Given the description of an element on the screen output the (x, y) to click on. 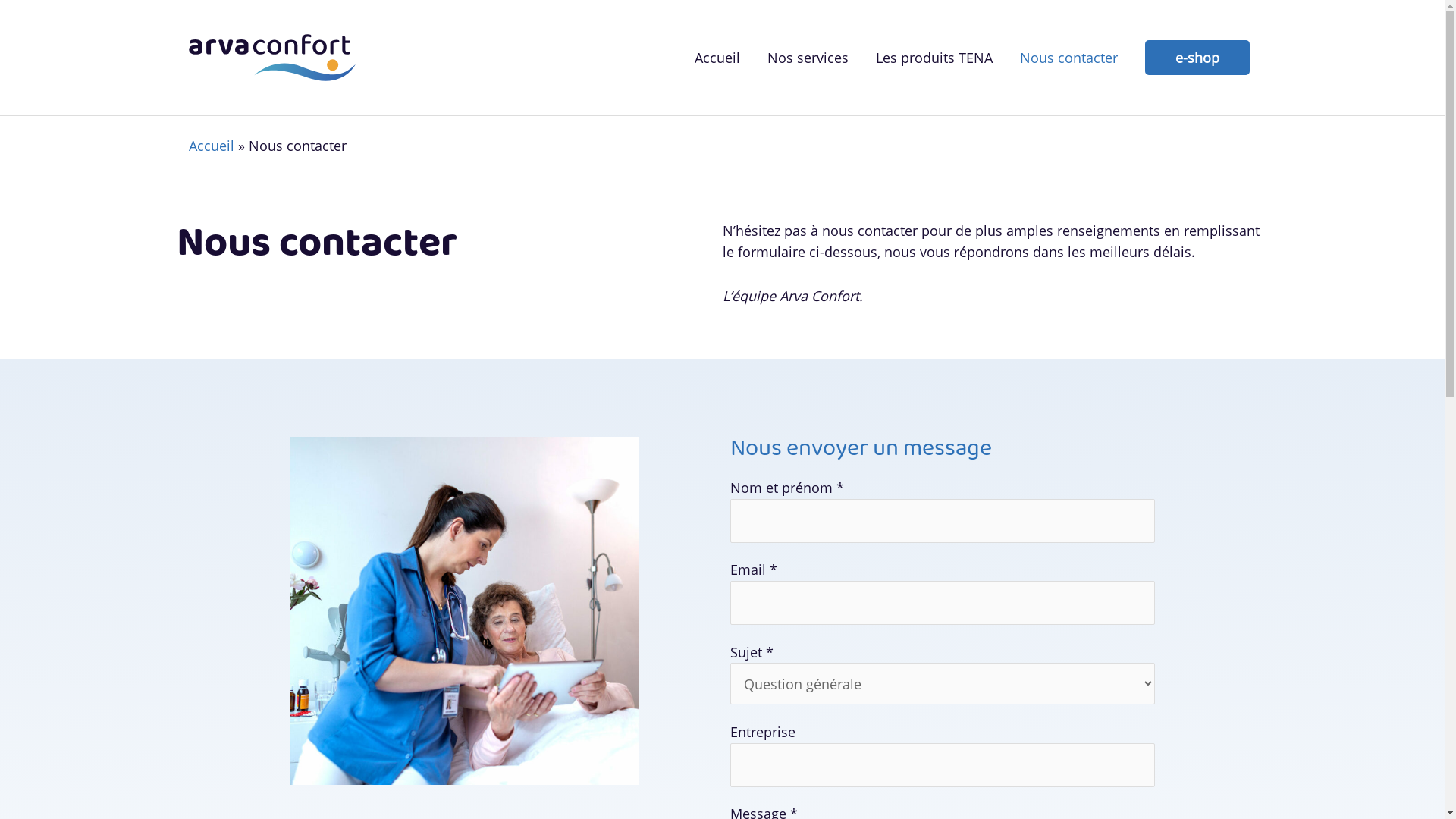
e-shop Element type: text (1197, 57)
Nos services Element type: text (807, 57)
Accueil Element type: text (716, 57)
Les produits TENA Element type: text (933, 57)
Nous contacter Element type: text (1067, 57)
Accueil Element type: text (210, 145)
